Given the description of an element on the screen output the (x, y) to click on. 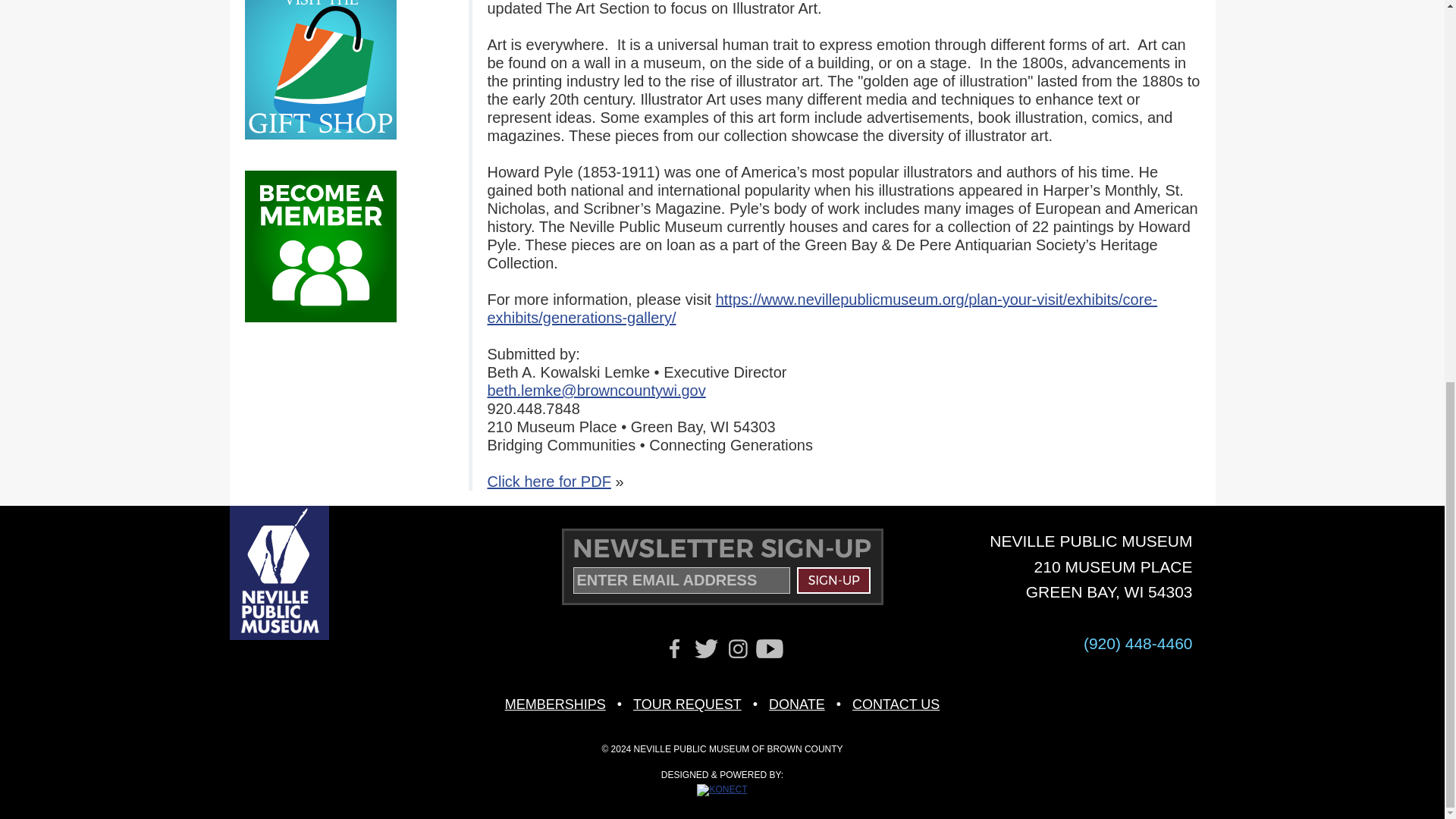
DMI Studios (721, 788)
